Given the description of an element on the screen output the (x, y) to click on. 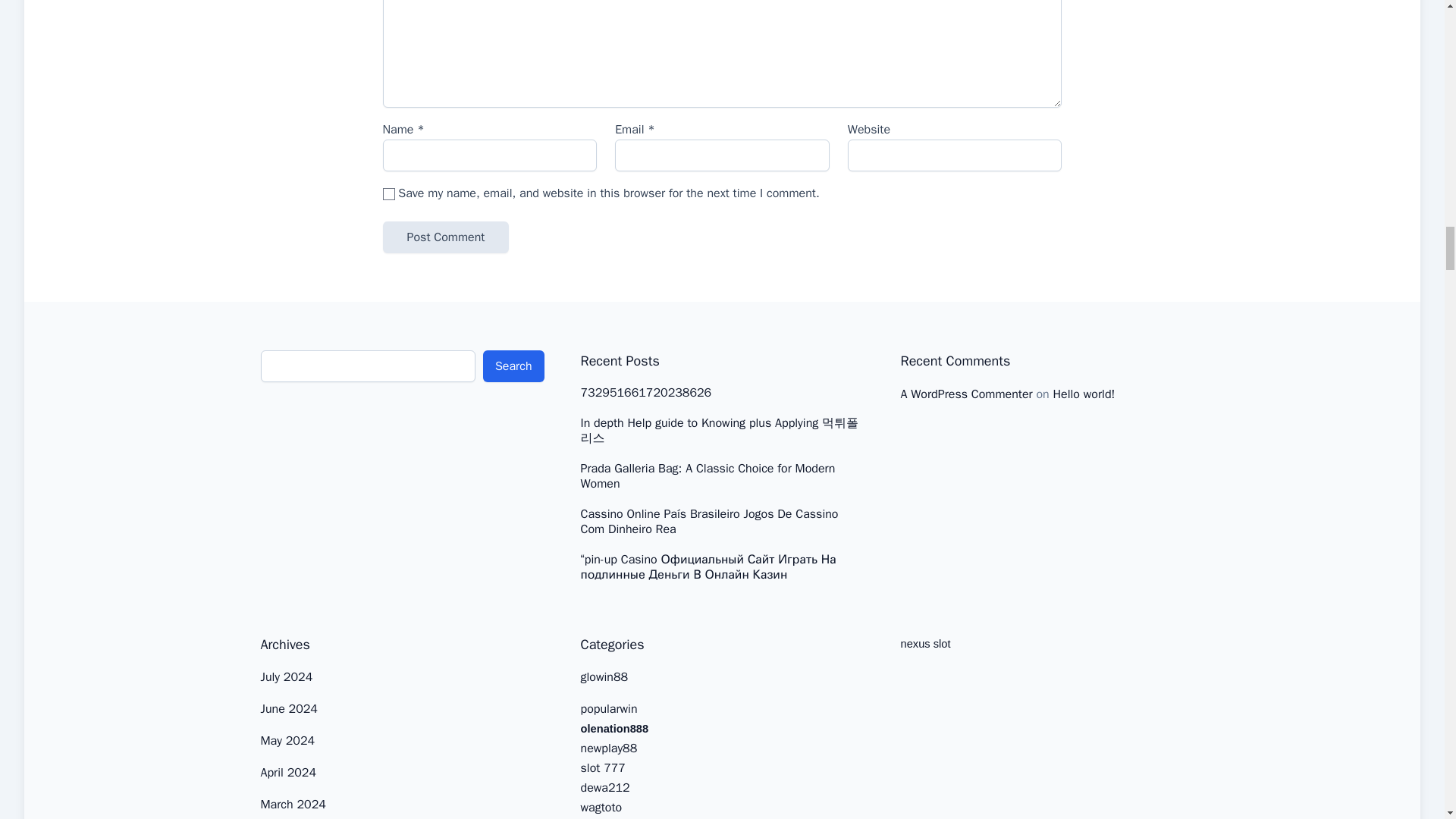
Search (513, 366)
732951661720238626 (645, 392)
July 2024 (286, 676)
June 2024 (288, 708)
A WordPress Commenter (966, 394)
April 2024 (288, 772)
Prada Galleria Bag: A Classic Choice for Modern Women (722, 476)
yes (387, 193)
March 2024 (293, 804)
May 2024 (287, 740)
